Given the description of an element on the screen output the (x, y) to click on. 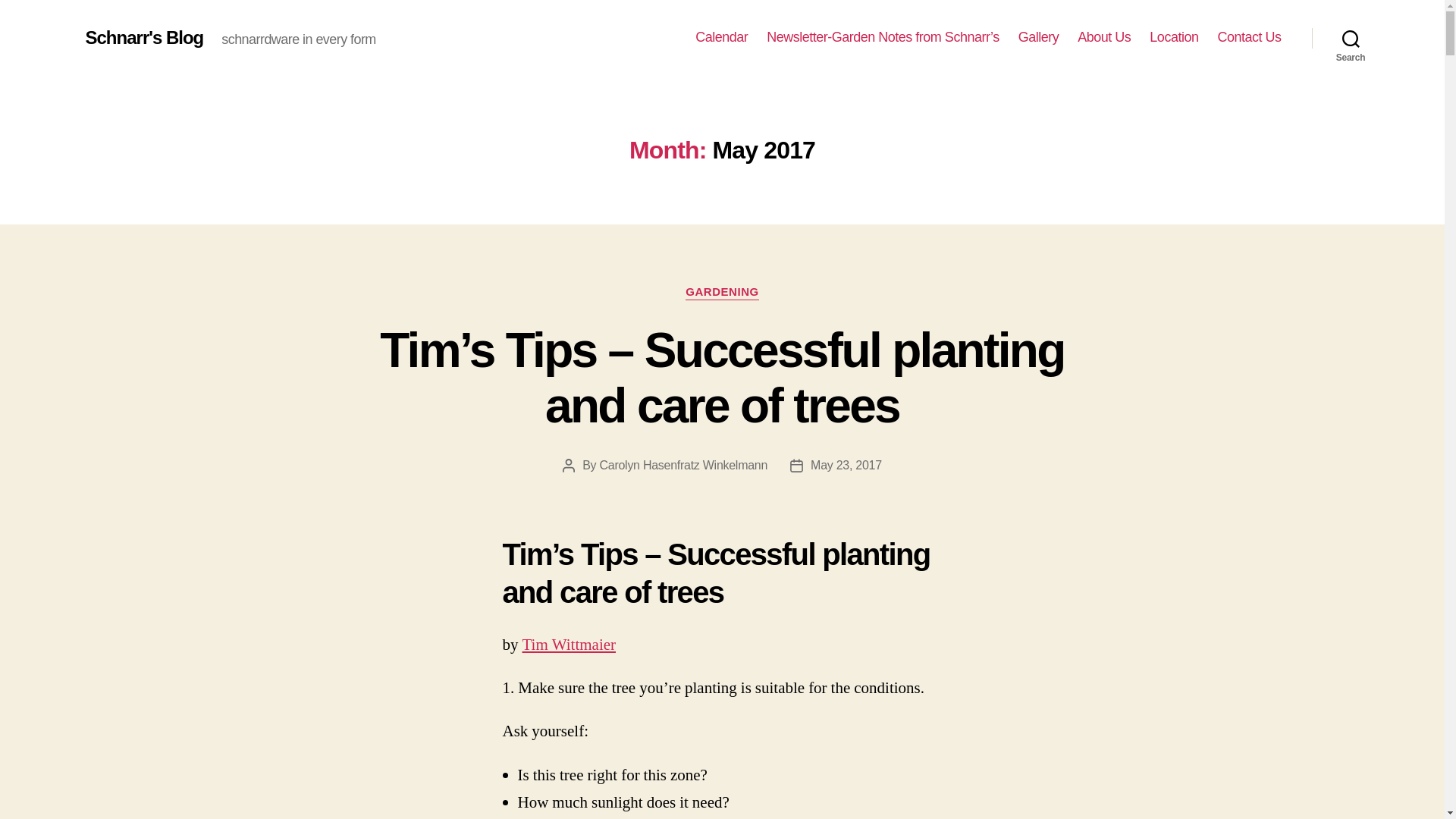
Contact Us (1249, 37)
GARDENING (721, 292)
Schnarr's Blog (143, 37)
May 23, 2017 (846, 464)
Search (1350, 37)
About Us (1104, 37)
Location (1174, 37)
Tim Wittmaier (568, 644)
Carolyn Hasenfratz Winkelmann (682, 464)
Gallery (1038, 37)
